Given the description of an element on the screen output the (x, y) to click on. 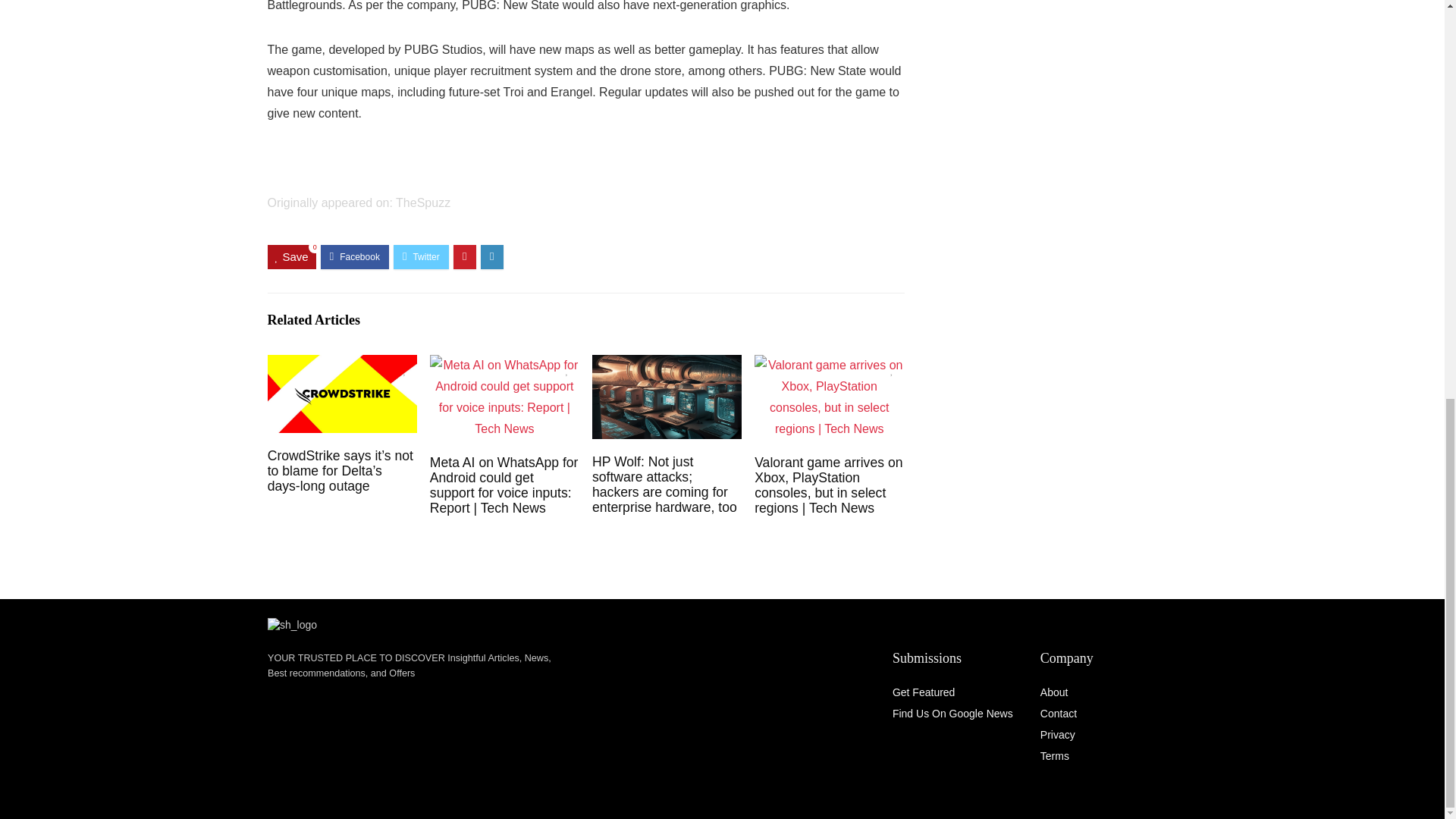
About (1054, 692)
Get Featured (923, 692)
TheSpuzz (422, 202)
Find Us On Google News (952, 713)
Contact (1059, 713)
Privacy (1058, 734)
Terms (1054, 756)
